Given the description of an element on the screen output the (x, y) to click on. 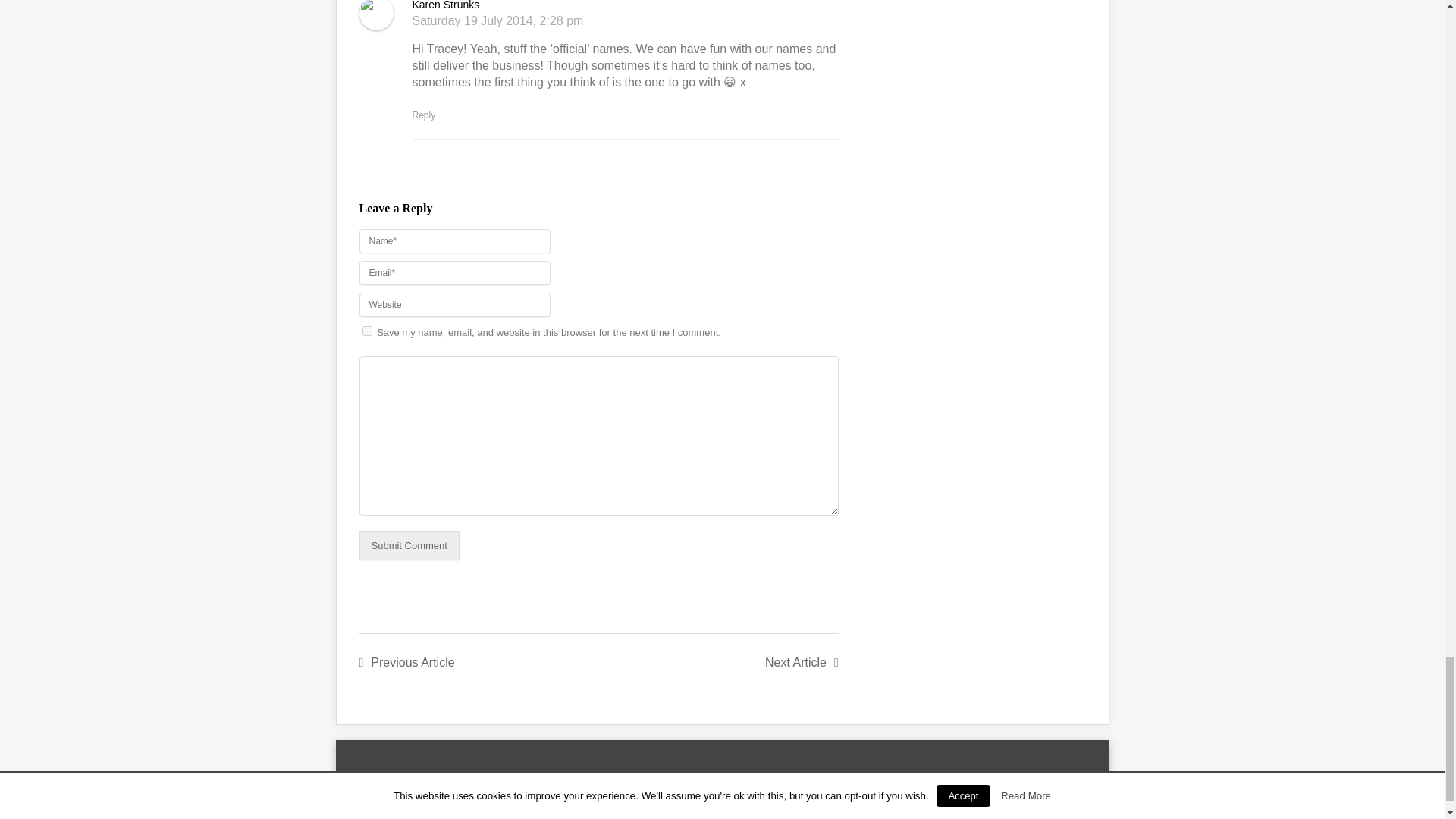
yes (367, 330)
Previous Article (406, 662)
Reply (423, 114)
Submit Comment (409, 545)
Submit Comment (409, 545)
Saturday 19 July 2014, 2:28 pm (497, 20)
Next Article (801, 662)
Karen Strunks (446, 5)
